Given the description of an element on the screen output the (x, y) to click on. 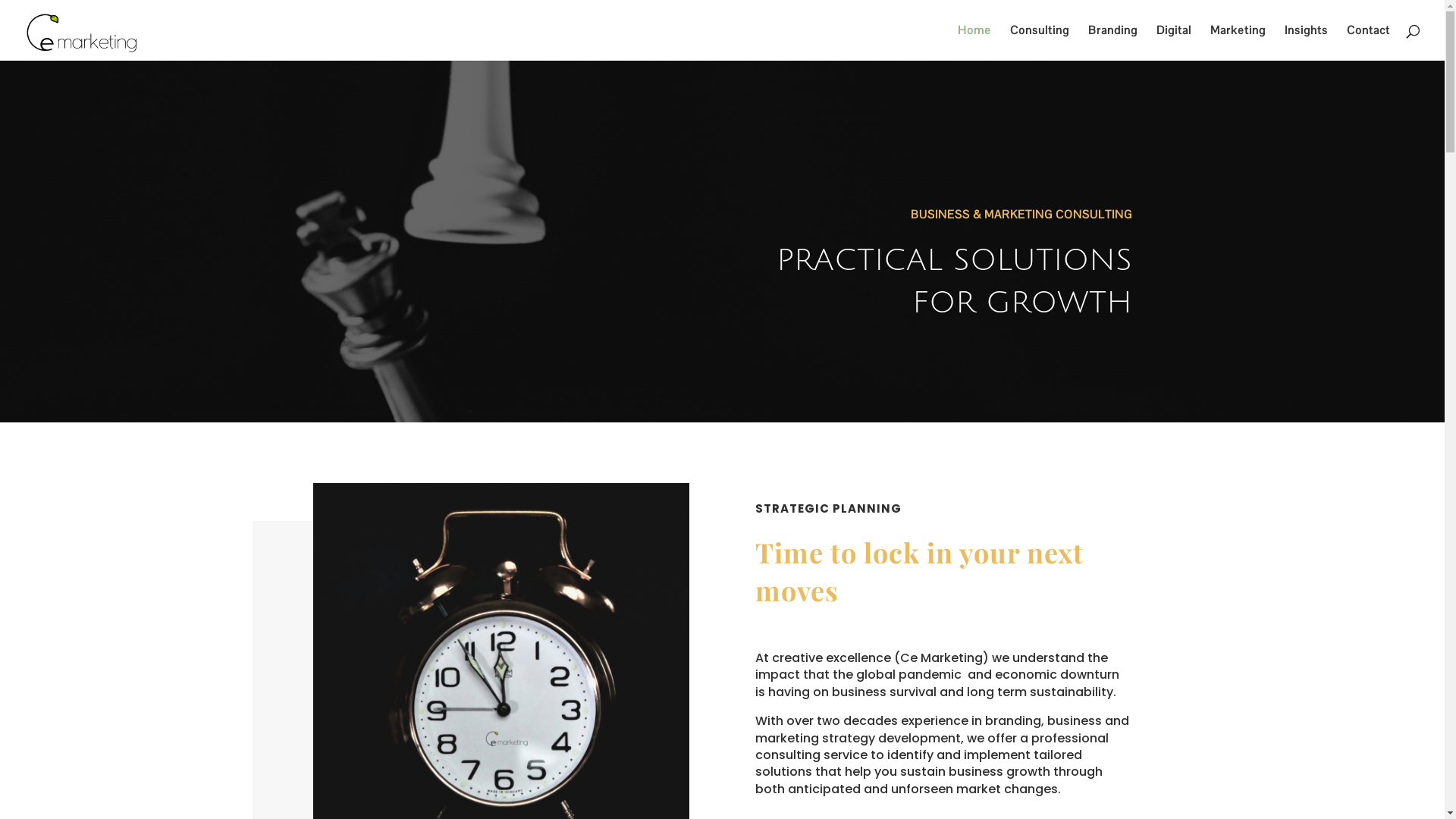
Marketing Element type: text (1237, 42)
Contact Element type: text (1368, 42)
Digital Element type: text (1173, 42)
Home Element type: text (974, 42)
Insights Element type: text (1305, 42)
Branding Element type: text (1112, 42)
Consulting Element type: text (1039, 42)
